Given the description of an element on the screen output the (x, y) to click on. 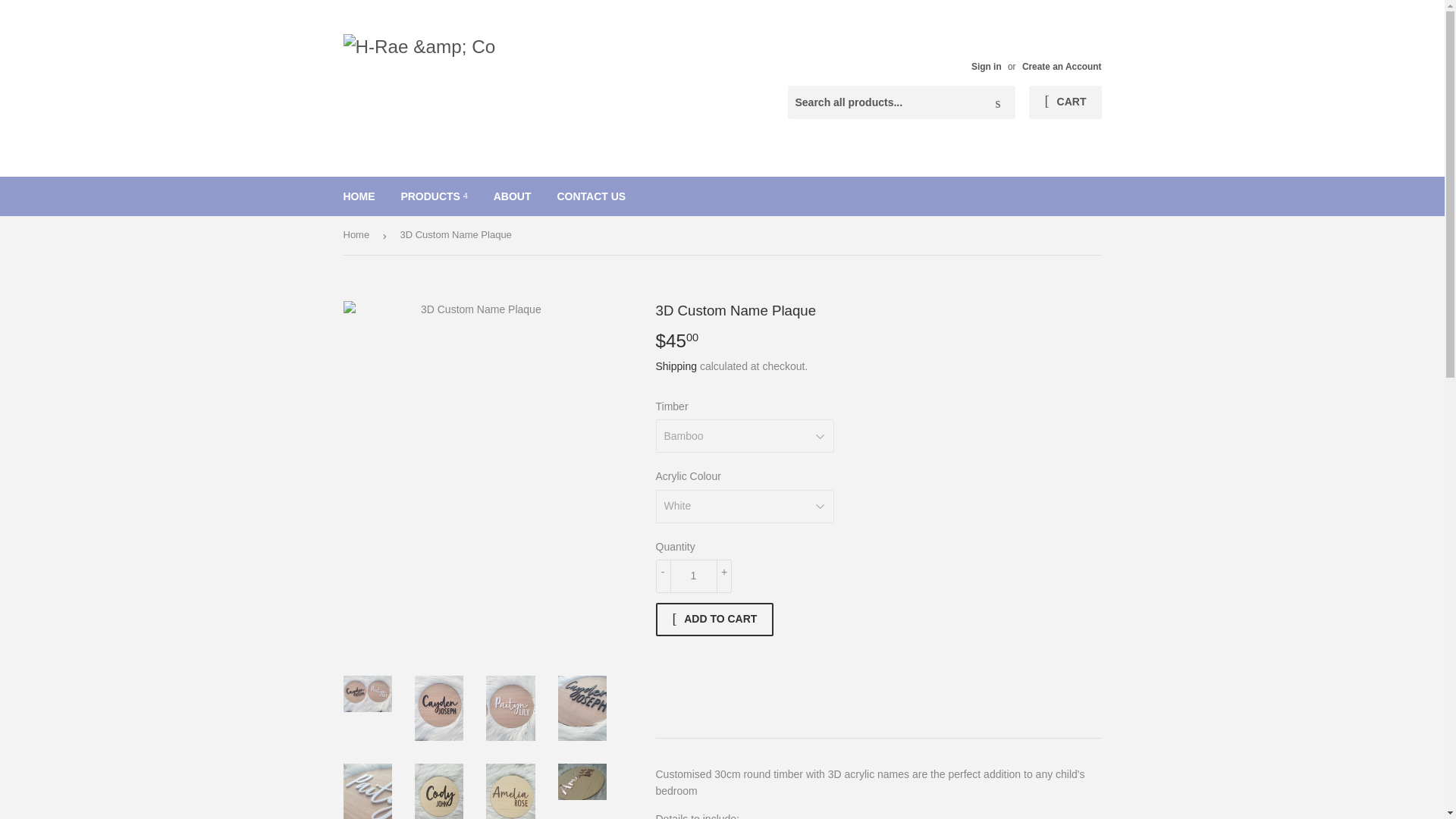
1 (692, 575)
Sign in (986, 66)
CART (1064, 101)
Create an Account (1062, 66)
PRODUCTS (433, 196)
Search (997, 102)
HOME (359, 196)
